Given the description of an element on the screen output the (x, y) to click on. 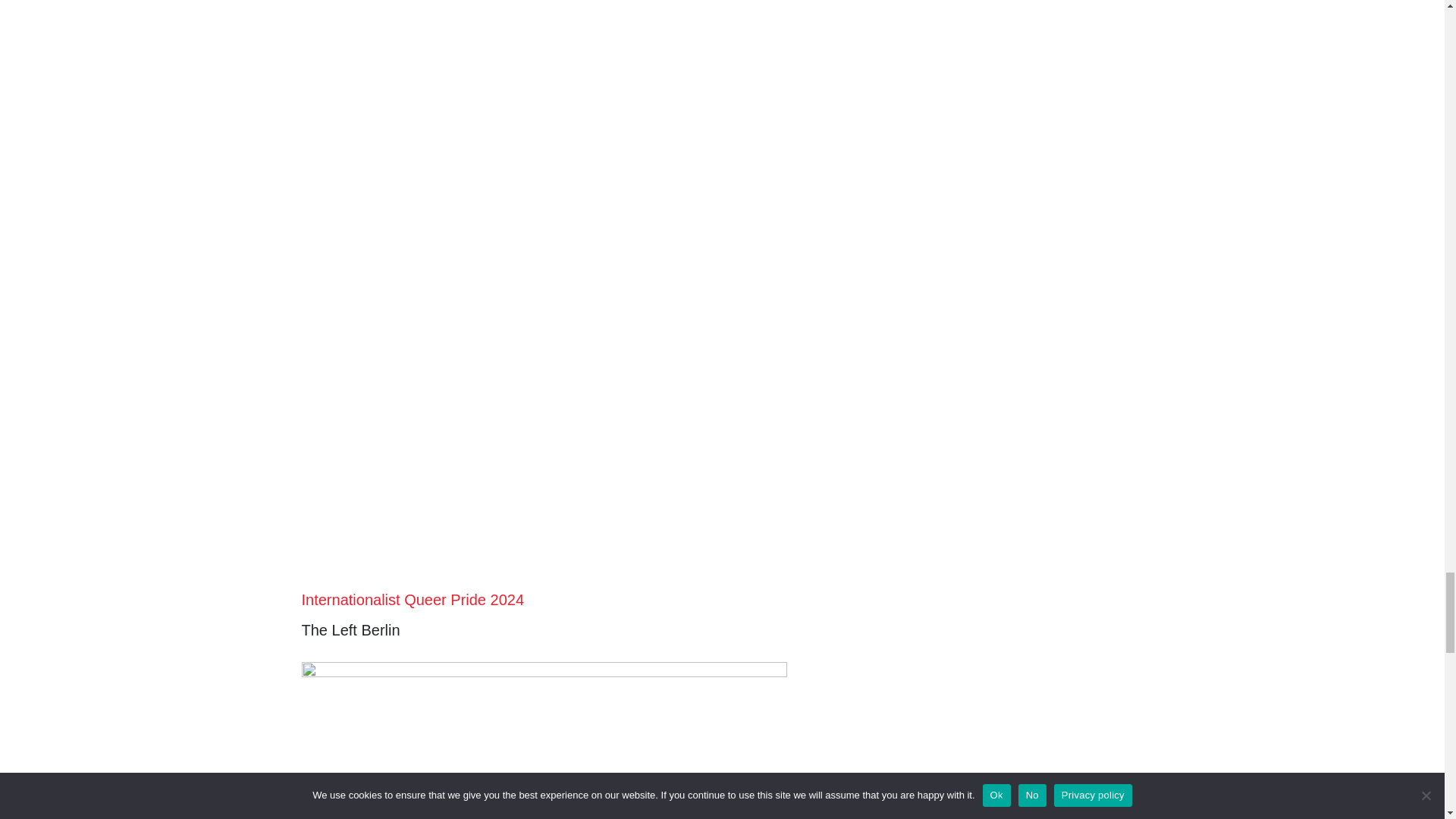
Internationalist Queer Pride 2024 (412, 599)
